Given the description of an element on the screen output the (x, y) to click on. 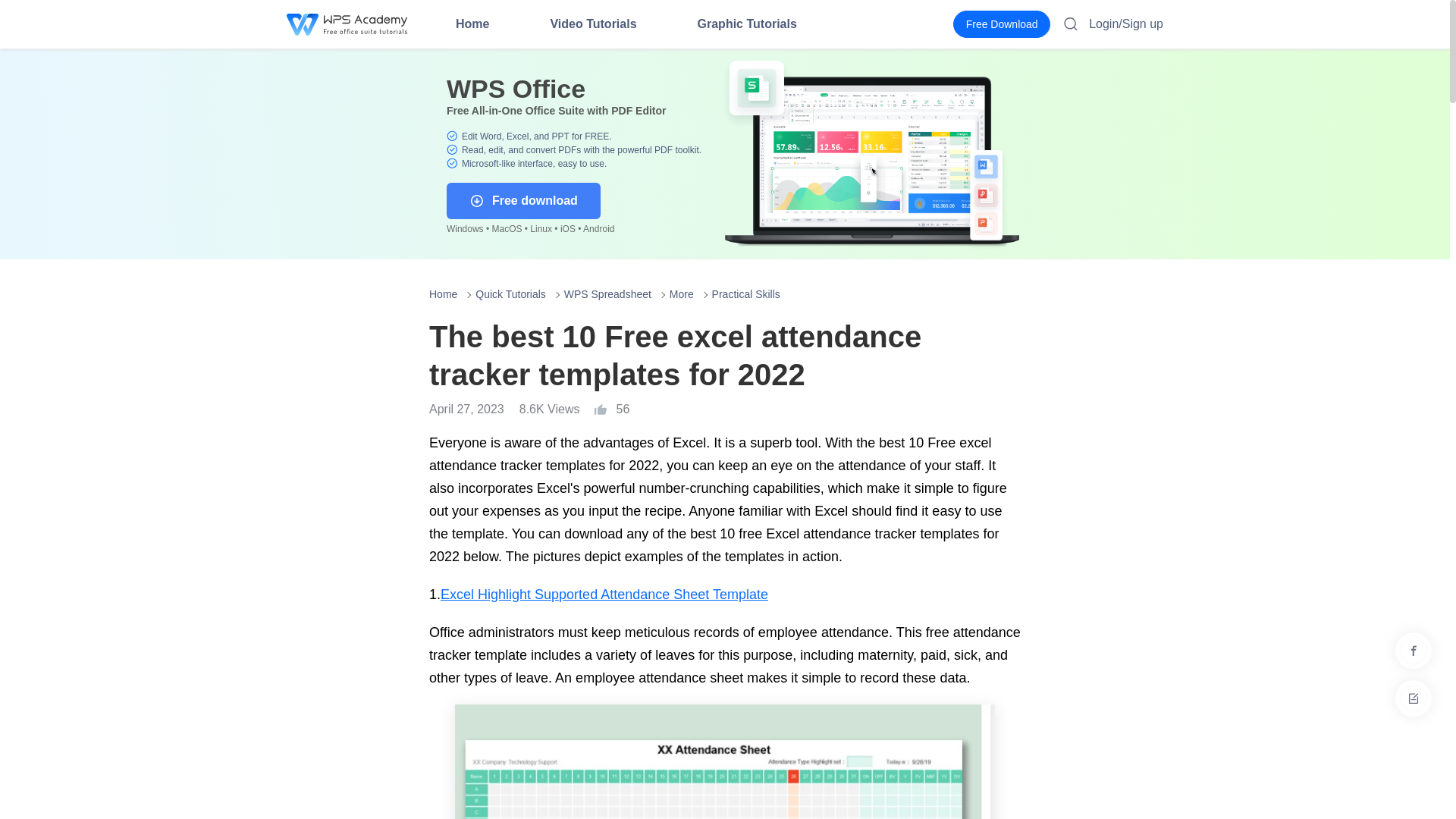
Video Tutorials (592, 24)
Home (472, 24)
Home (472, 24)
Graphic Tutorials (746, 24)
Video Tutorials (592, 24)
